Given the description of an element on the screen output the (x, y) to click on. 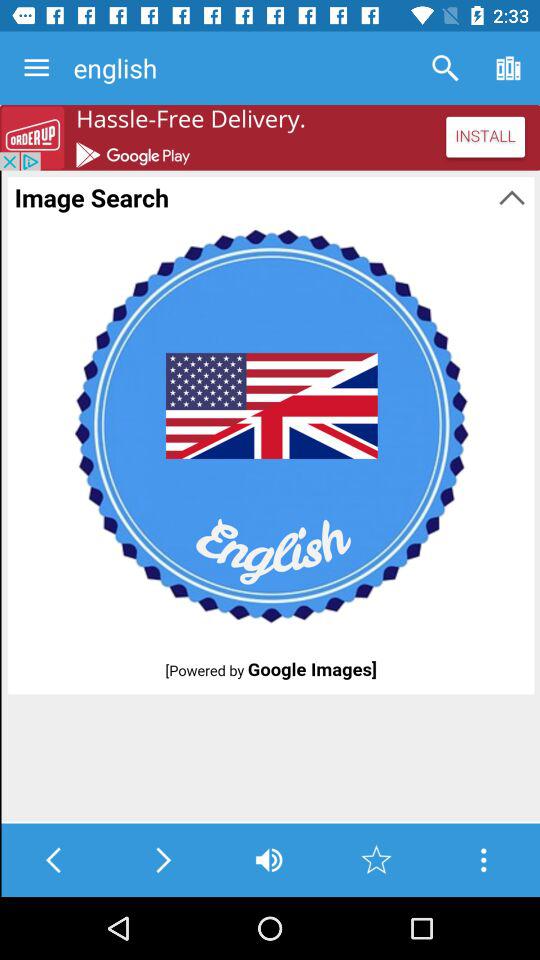
sound (268, 859)
